Given the description of an element on the screen output the (x, y) to click on. 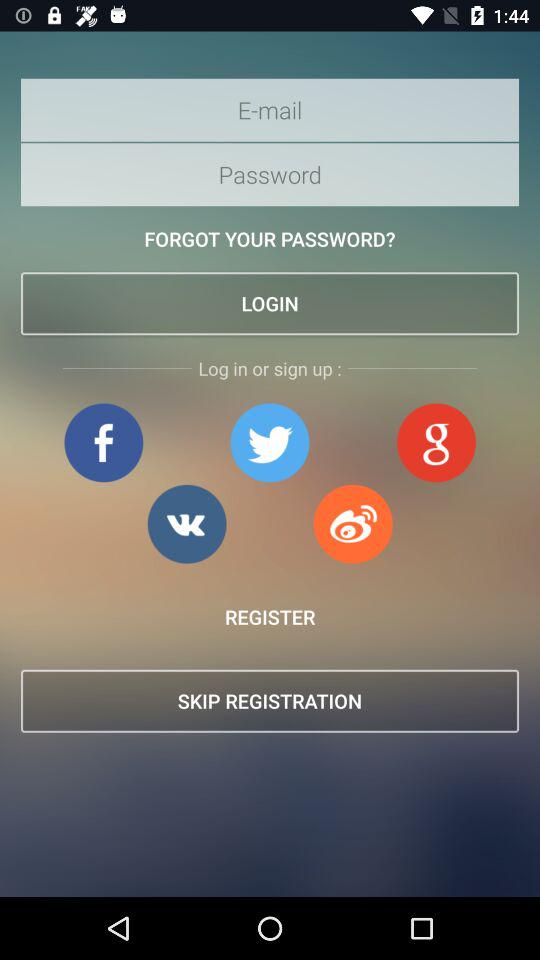
turn on skip registration icon (270, 700)
